Given the description of an element on the screen output the (x, y) to click on. 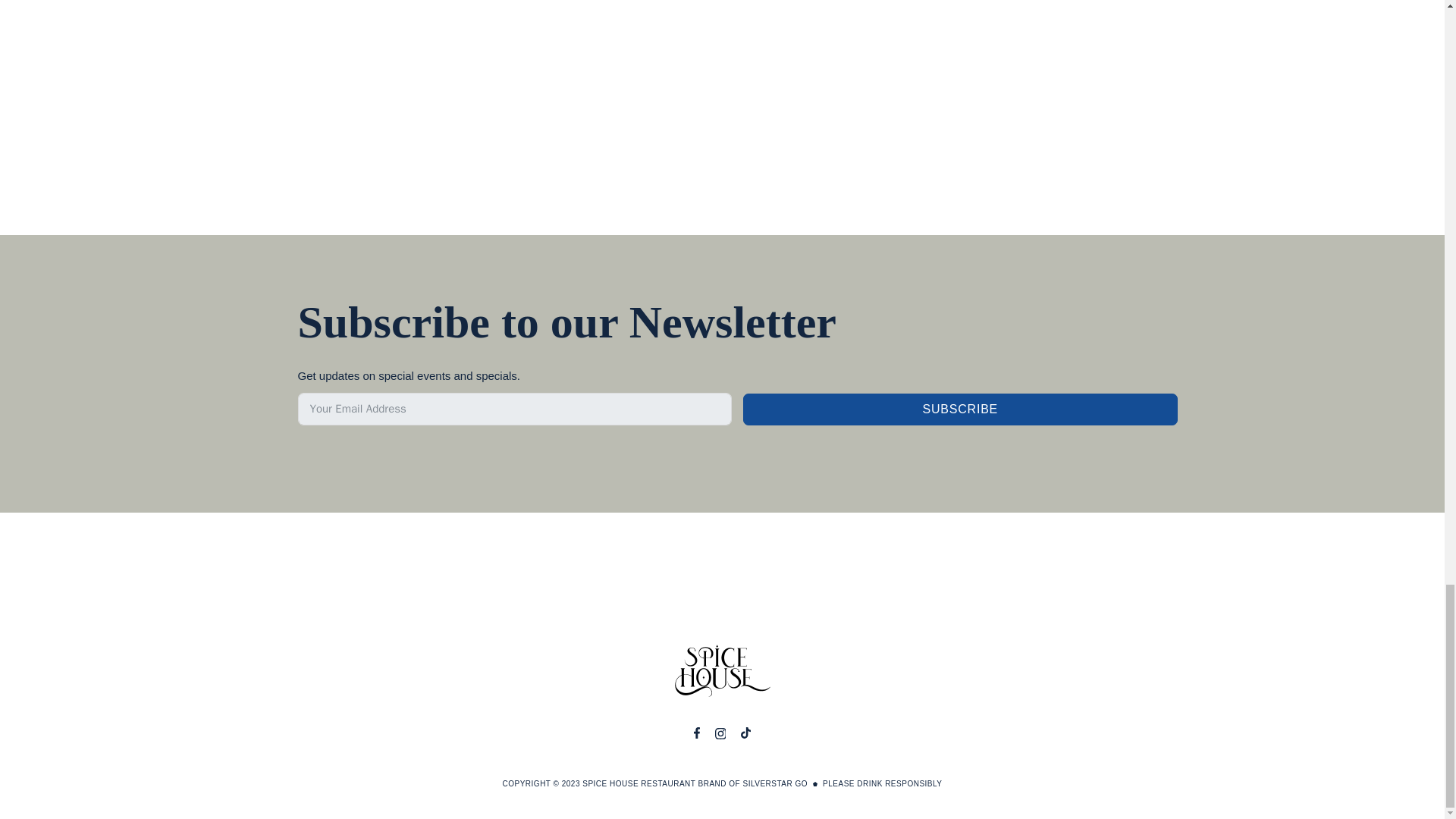
SUBSCRIBE (959, 409)
2023 SPICE HOUSE RESTAURANT BRAND OF SILVERSTAR GO (685, 783)
